Given the description of an element on the screen output the (x, y) to click on. 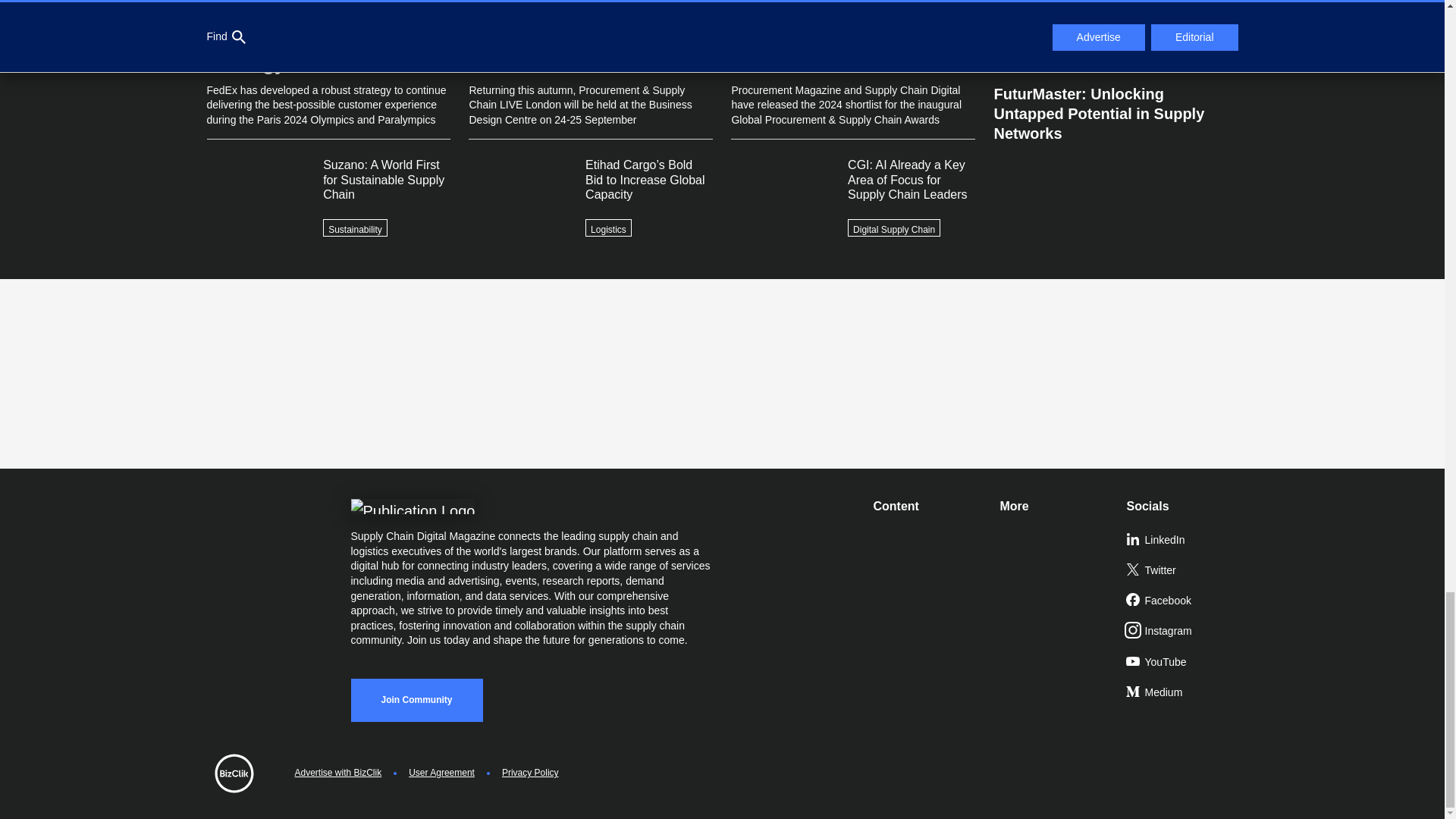
FuturMaster: Unlocking Untapped Potential in Supply Networks (1114, 107)
Join Community (415, 699)
